Given the description of an element on the screen output the (x, y) to click on. 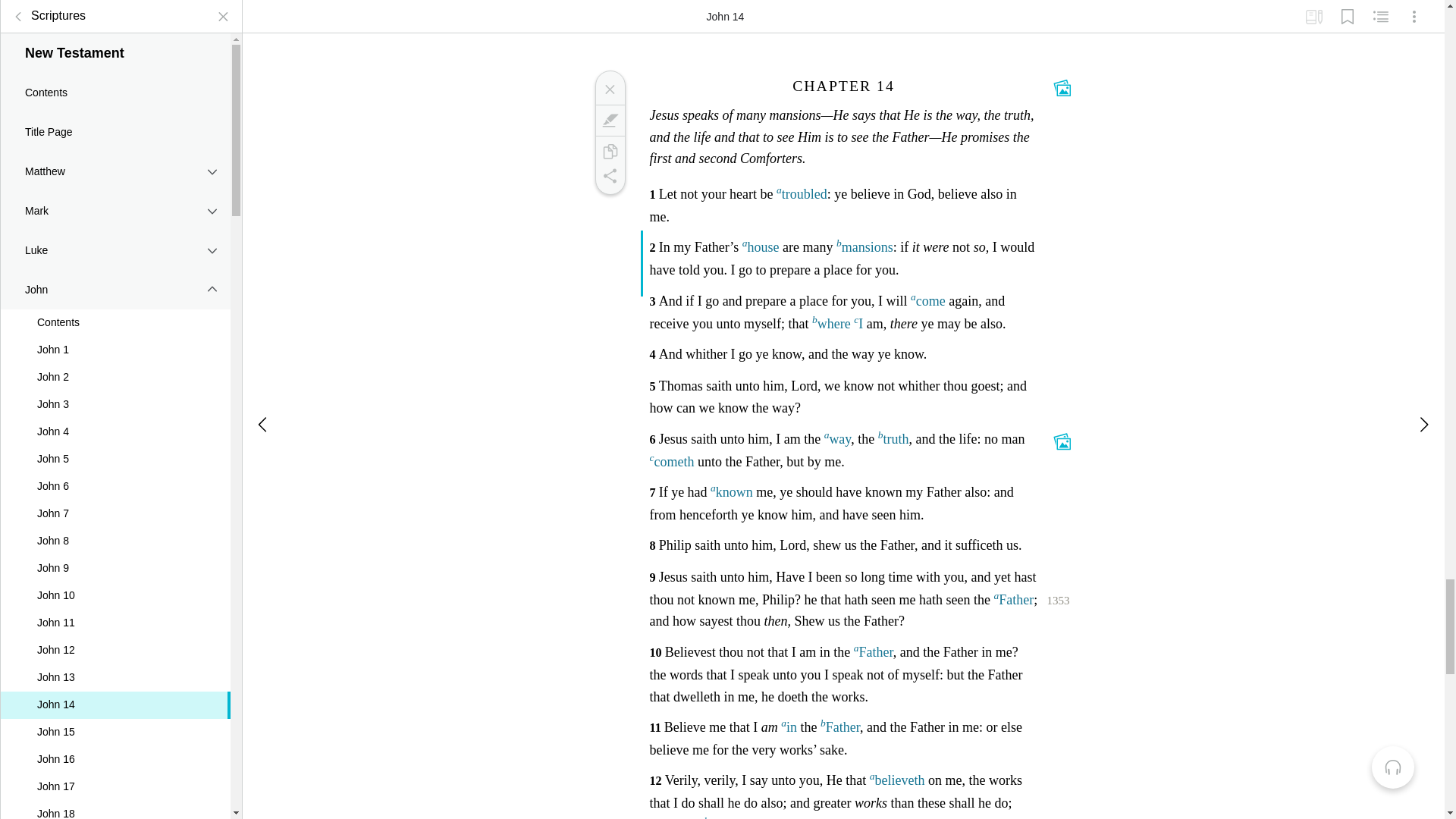
Share (608, 175)
John 10 (115, 584)
John 15 (115, 720)
John 9 (115, 556)
Copy (608, 151)
John 14 (115, 693)
Study Sets (1313, 11)
Mark (608, 120)
Related Content (1380, 11)
Mark (115, 199)
John 12 (115, 638)
John 5 (115, 447)
John 3 (115, 393)
Options (1414, 11)
Contents (115, 311)
